Given the description of an element on the screen output the (x, y) to click on. 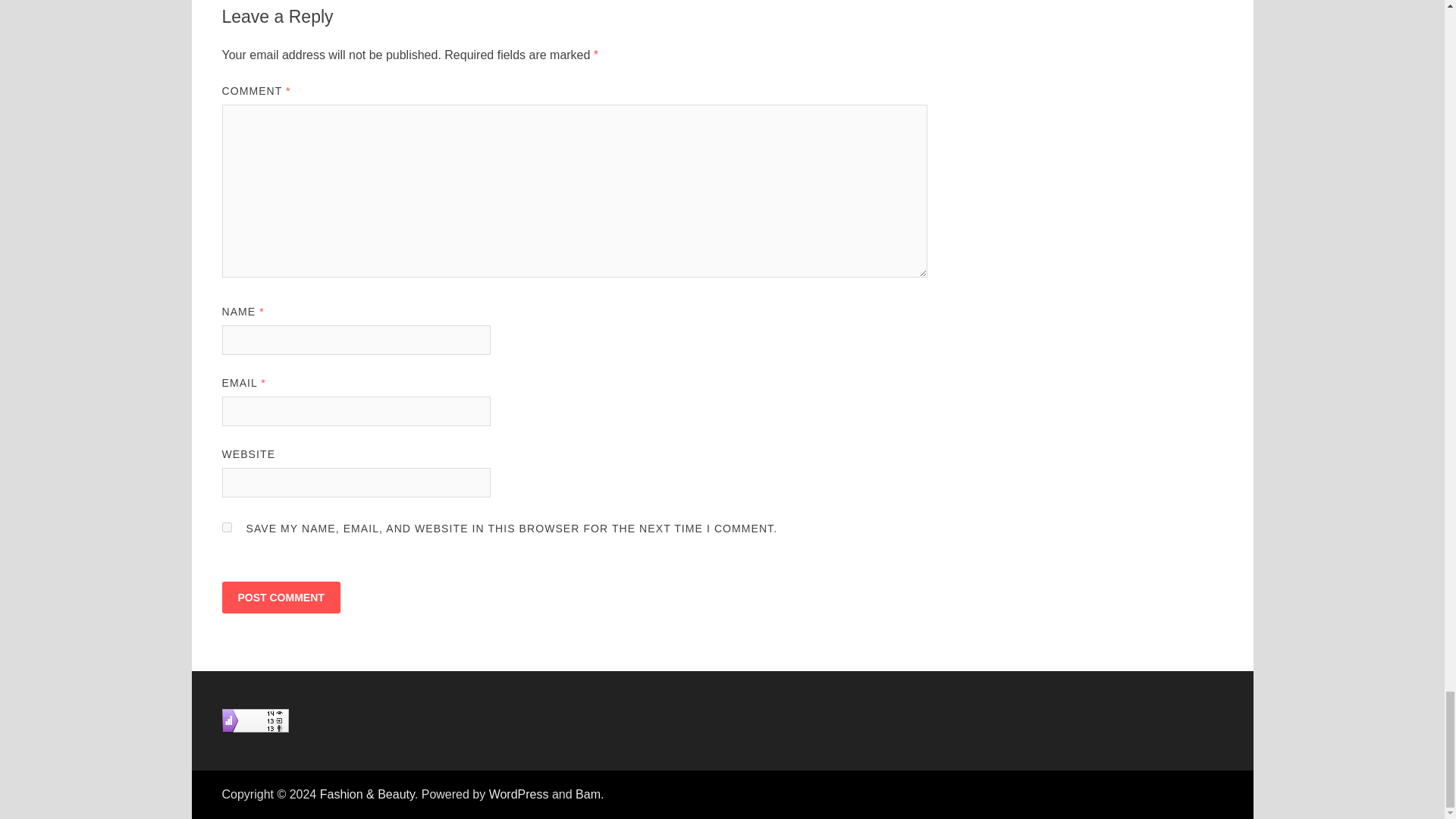
WordPress (518, 793)
yes (226, 527)
Post Comment (280, 597)
Post Comment (280, 597)
Bam (587, 793)
